Given the description of an element on the screen output the (x, y) to click on. 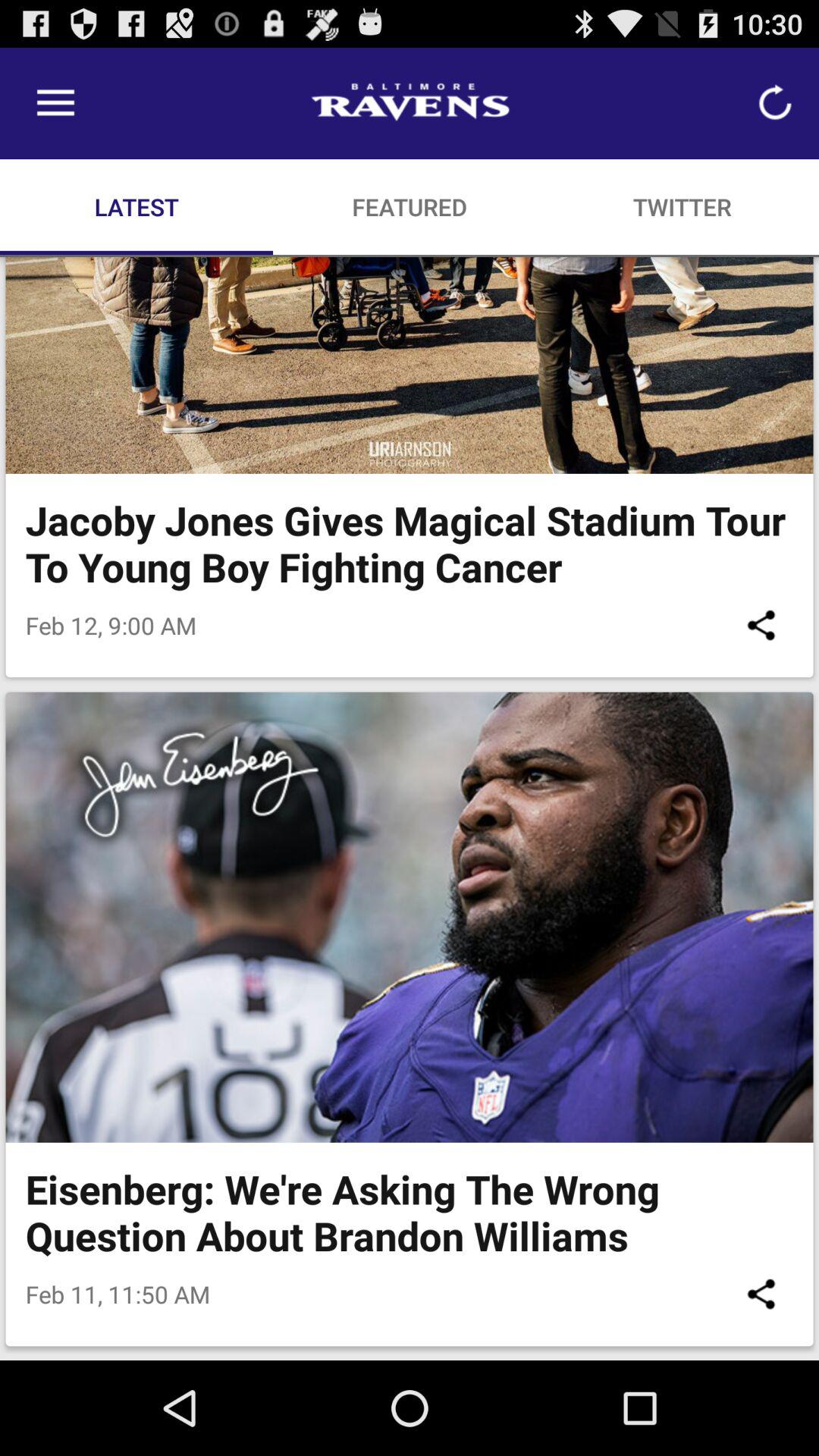
choose the item above the latest item (55, 103)
